Given the description of an element on the screen output the (x, y) to click on. 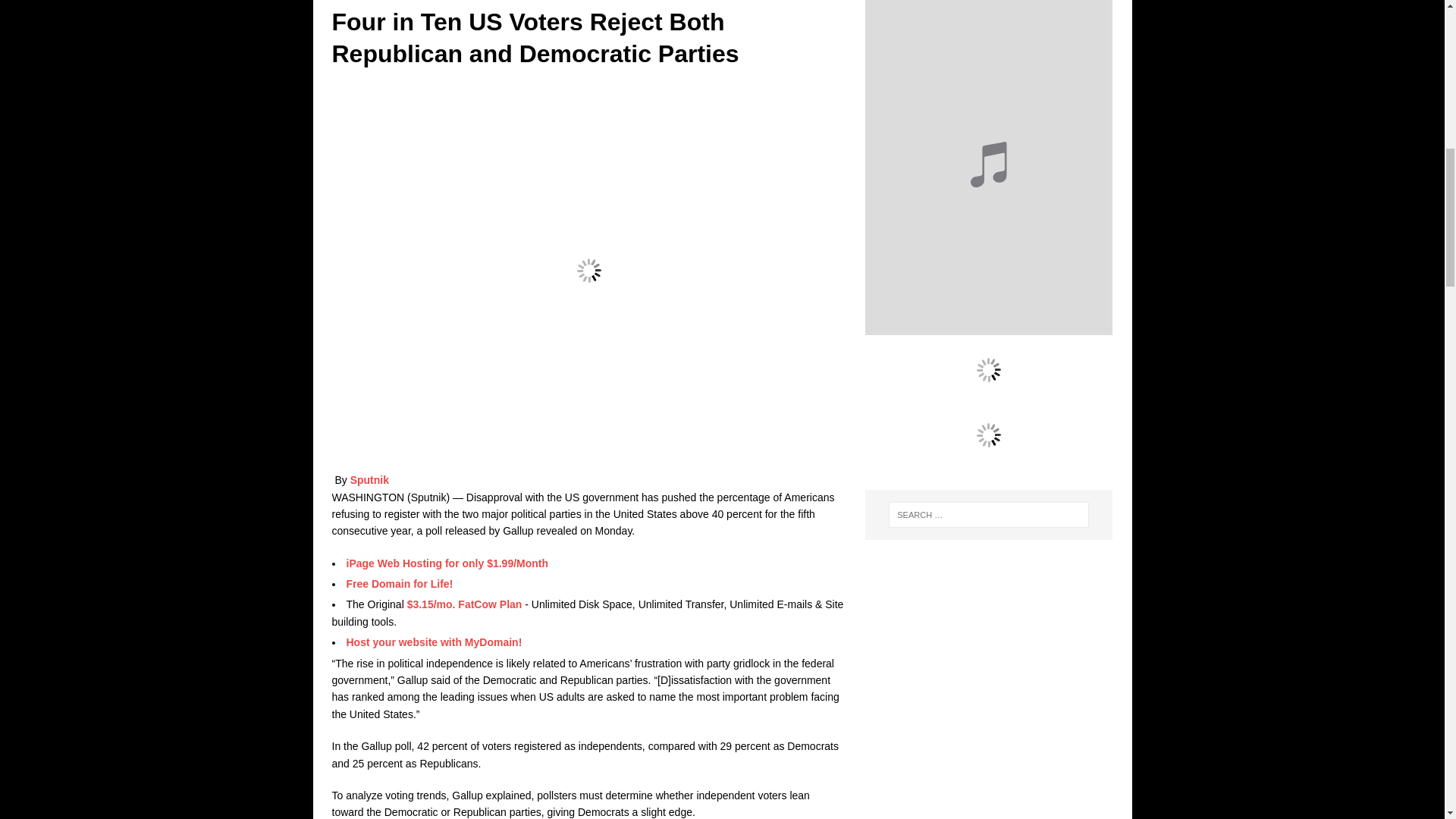
Free Domain for Life! (399, 583)
Host your website with MyDomain! (433, 642)
Sputnik (369, 480)
